Given the description of an element on the screen output the (x, y) to click on. 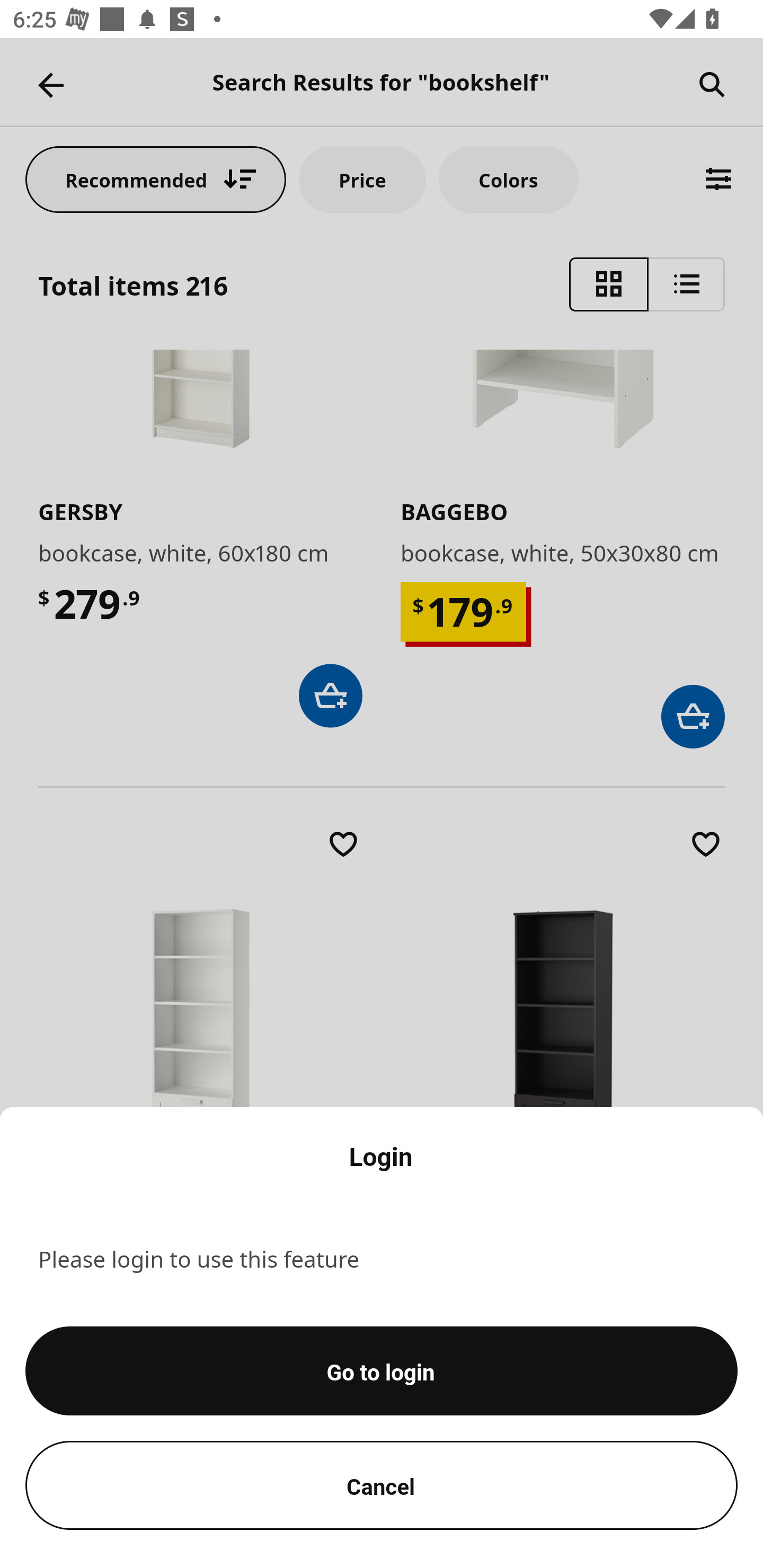
Go to login (381, 1370)
Cancel (381, 1485)
